Given the description of an element on the screen output the (x, y) to click on. 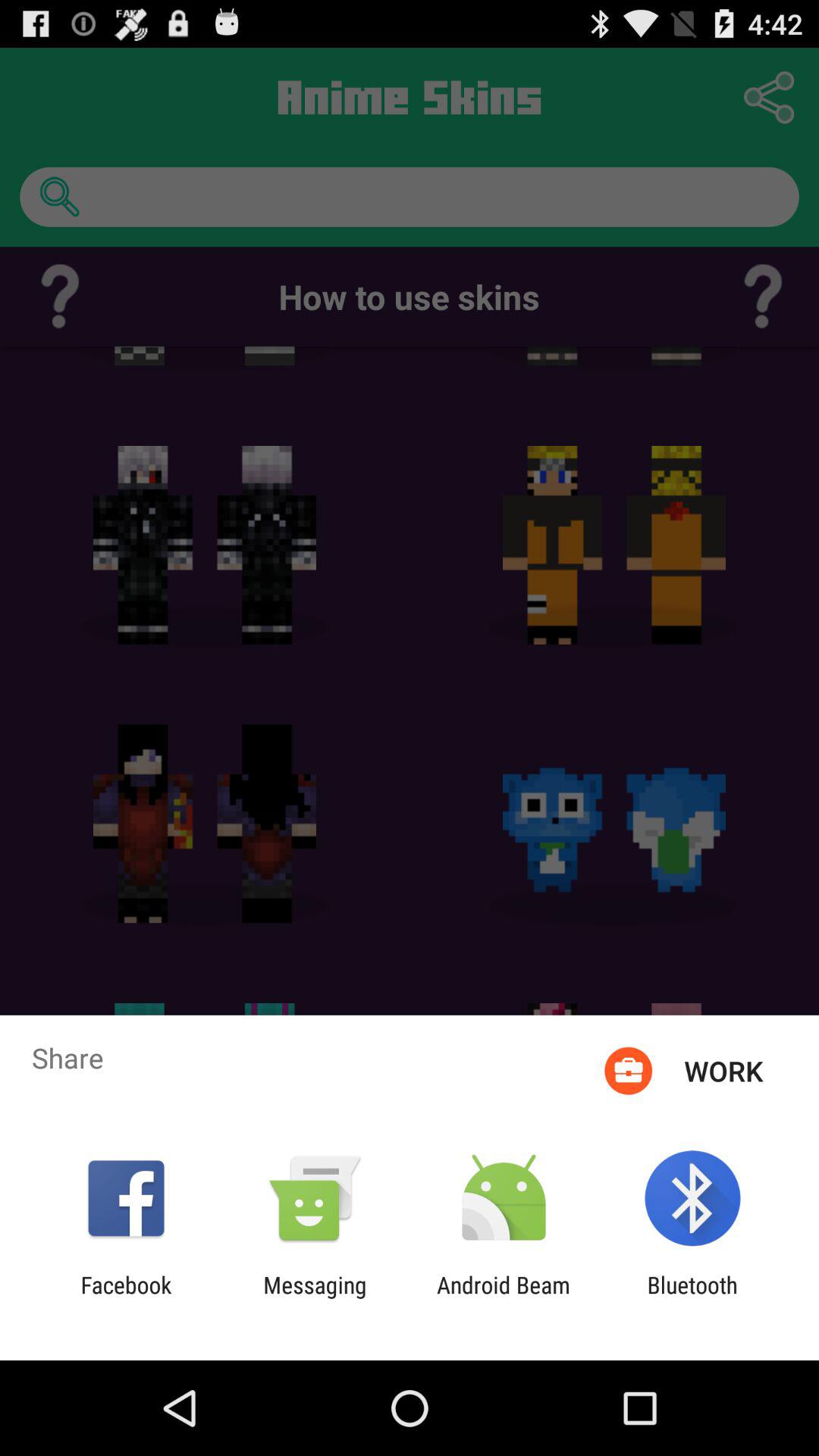
choose the icon next to the messaging item (503, 1298)
